Given the description of an element on the screen output the (x, y) to click on. 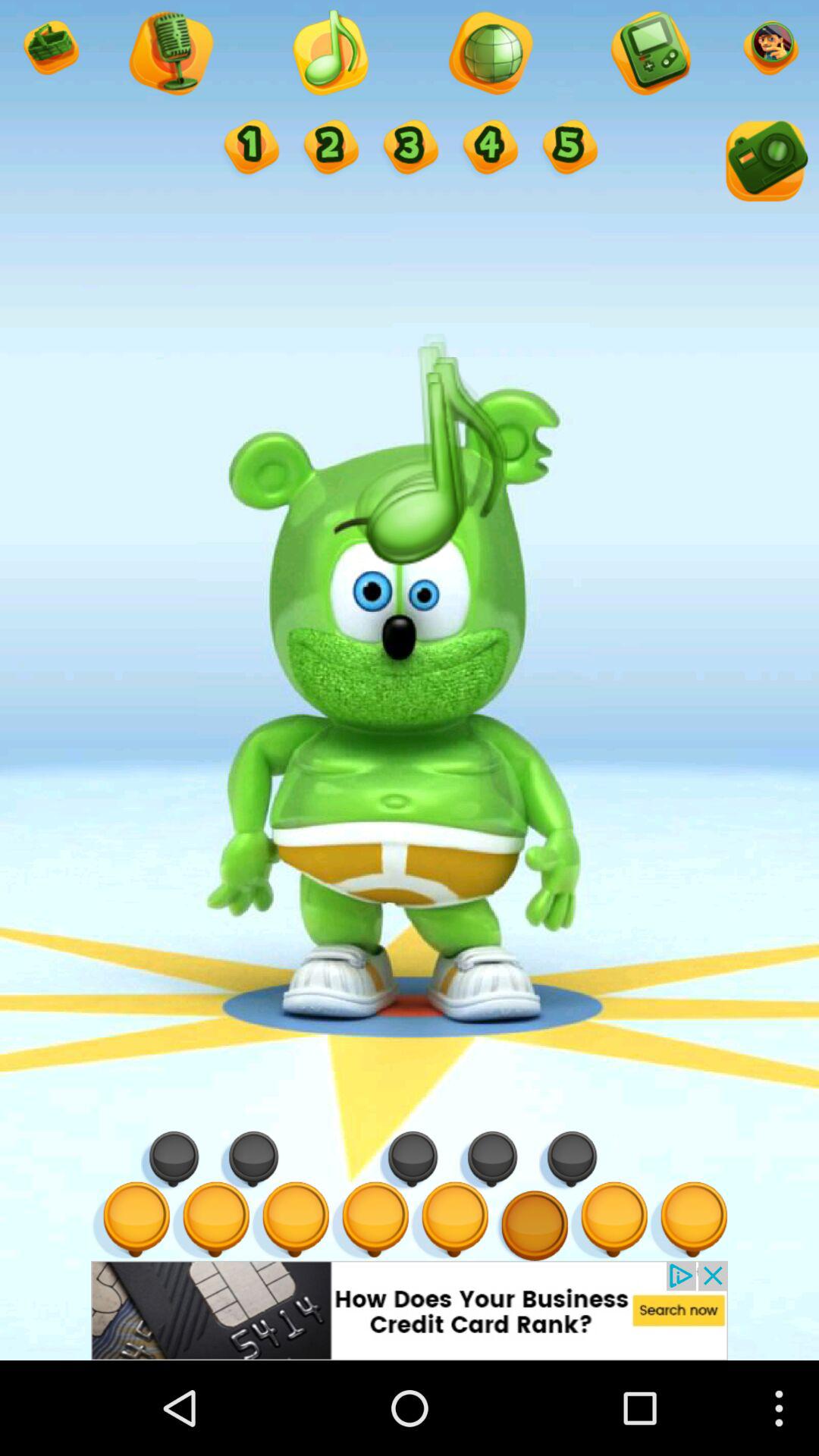
take picure (763, 164)
